Given the description of an element on the screen output the (x, y) to click on. 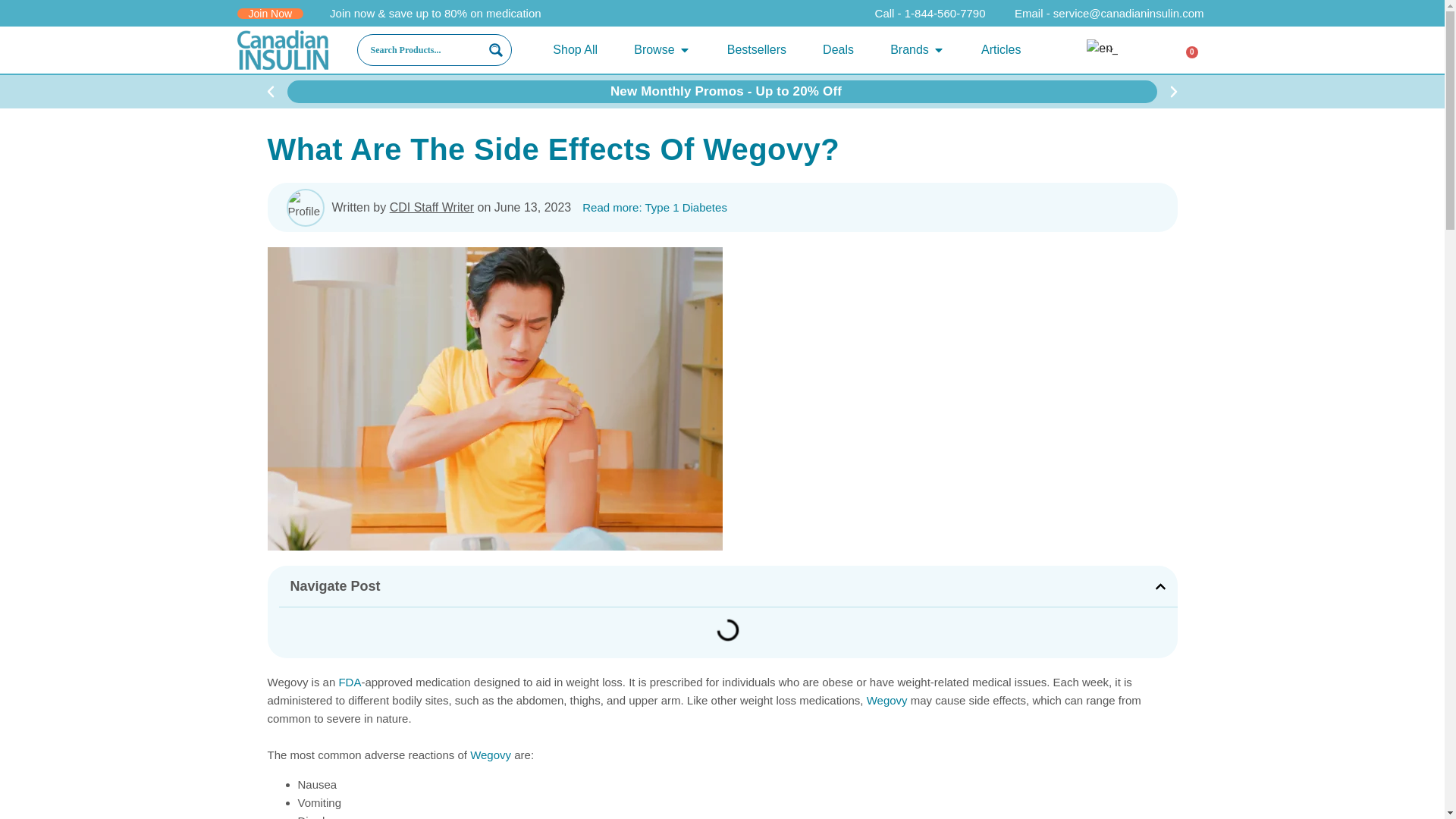
Shop All (574, 49)
Brands (908, 49)
Join Now (268, 12)
English (1102, 48)
Deals (837, 49)
Call - 1-844-560-7790 (921, 13)
English (1099, 48)
Articles (1000, 49)
Bestsellers (756, 49)
